Given the description of an element on the screen output the (x, y) to click on. 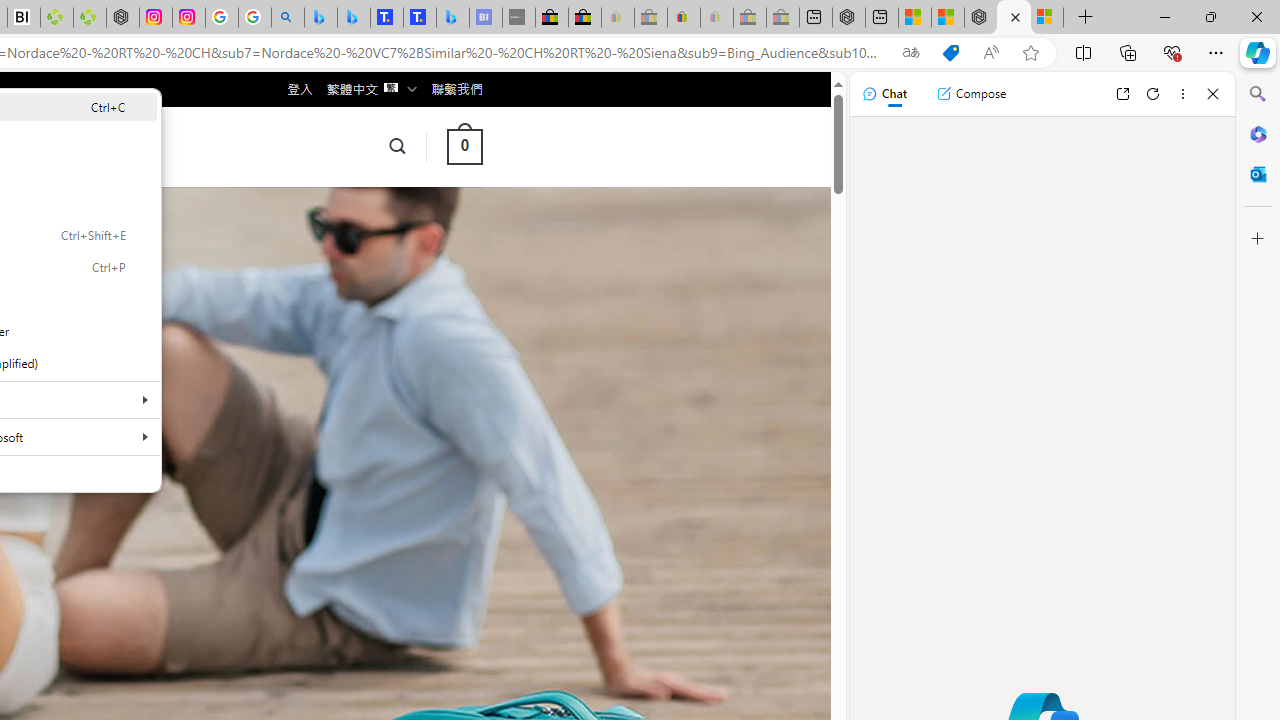
Shangri-La Bangkok, Hotel reviews and Room rates (420, 17)
